Given the description of an element on the screen output the (x, y) to click on. 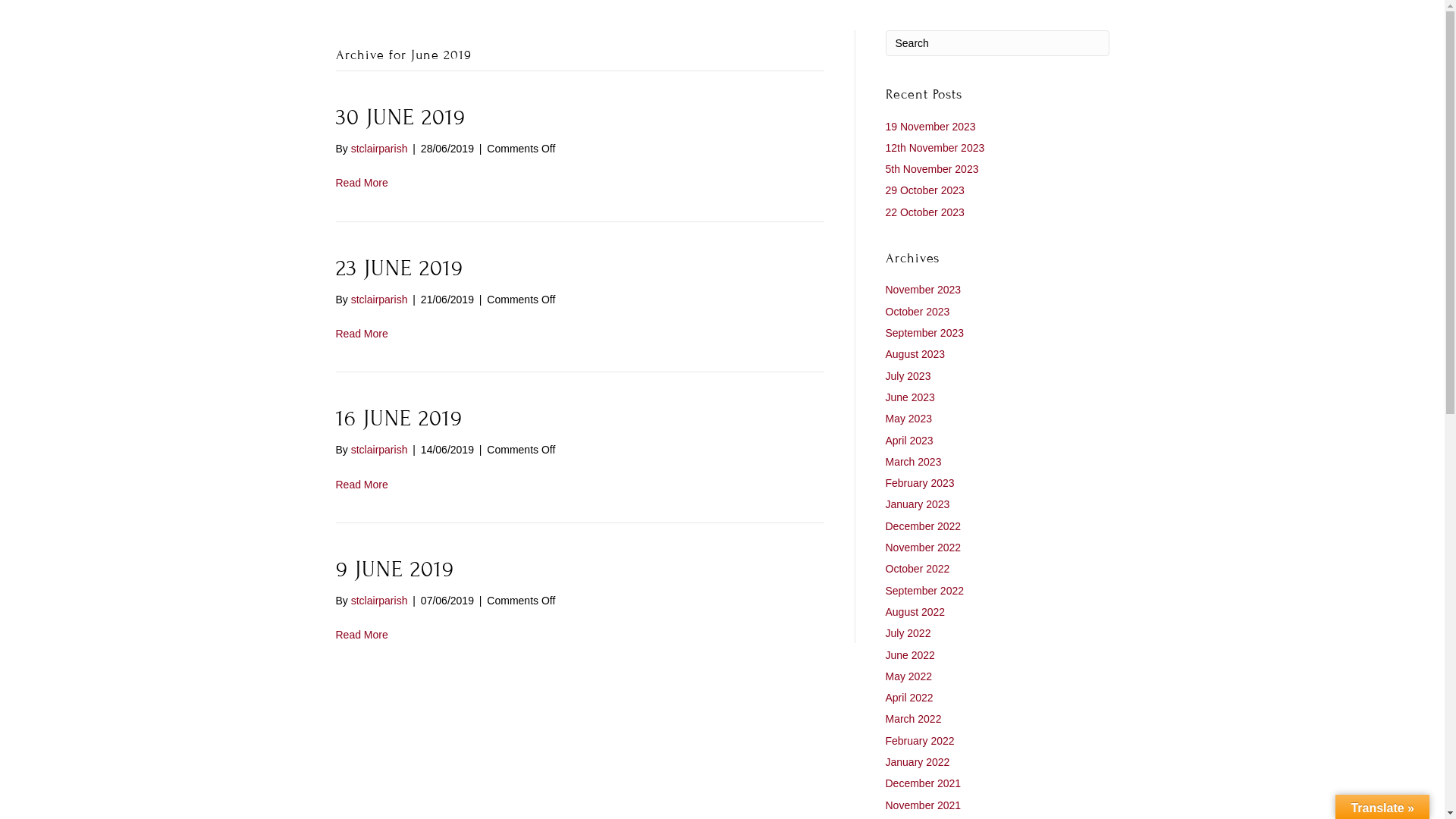
July 2022 Element type: text (908, 633)
July 2023 Element type: text (908, 376)
Read More Element type: text (361, 634)
October 2022 Element type: text (917, 568)
stclairparish Element type: text (379, 600)
November 2023 Element type: text (923, 289)
December 2022 Element type: text (923, 526)
stclairparish Element type: text (379, 299)
January 2023 Element type: text (917, 504)
January 2022 Element type: text (917, 762)
Read More Element type: text (361, 484)
30 JUNE 2019 Element type: text (399, 117)
April 2023 Element type: text (909, 440)
12th November 2023 Element type: text (935, 147)
29 October 2023 Element type: text (924, 190)
9 JUNE 2019 Element type: text (394, 569)
April 2022 Element type: text (909, 697)
December 2021 Element type: text (923, 783)
March 2022 Element type: text (913, 718)
stclairparish Element type: text (379, 449)
stclairparish Element type: text (379, 148)
22 October 2023 Element type: text (924, 212)
September 2023 Element type: text (924, 332)
May 2022 Element type: text (908, 676)
16 JUNE 2019 Element type: text (398, 418)
August 2022 Element type: text (915, 611)
November 2022 Element type: text (923, 547)
August 2023 Element type: text (915, 354)
June 2023 Element type: text (910, 397)
February 2022 Element type: text (919, 740)
November 2021 Element type: text (923, 805)
23 JUNE 2019 Element type: text (398, 268)
Read More Element type: text (361, 333)
Read More Element type: text (361, 182)
September 2022 Element type: text (924, 590)
February 2023 Element type: text (919, 482)
19 November 2023 Element type: text (930, 125)
October 2023 Element type: text (917, 311)
Type and press Enter to search. Element type: hover (997, 43)
May 2023 Element type: text (908, 418)
March 2023 Element type: text (913, 461)
June 2022 Element type: text (910, 655)
5th November 2023 Element type: text (932, 169)
